Given the description of an element on the screen output the (x, y) to click on. 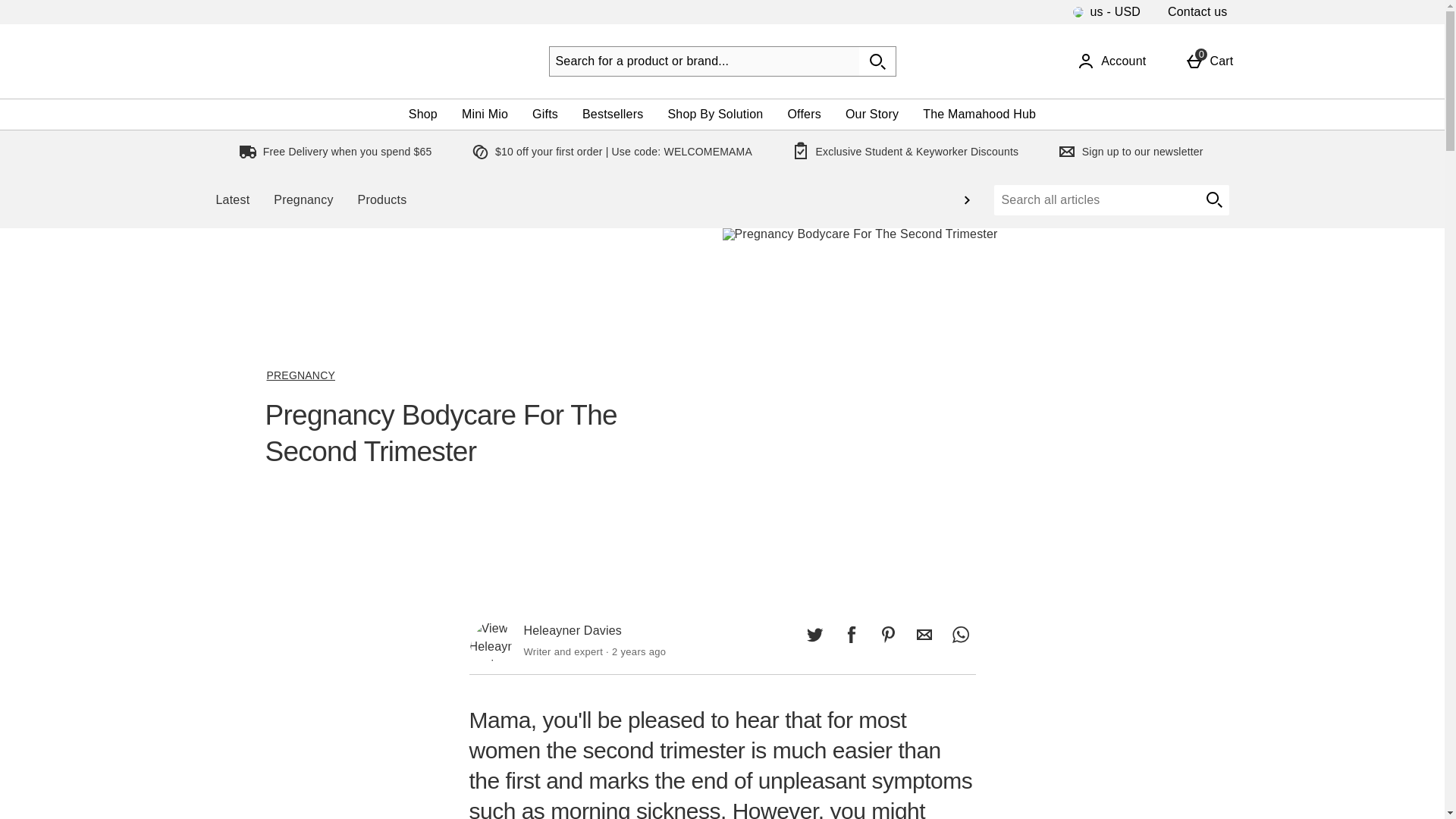
Search Articles (1095, 200)
Search for a product or brand... (703, 61)
Share this on Twitter (814, 634)
Gifts (1209, 61)
Shop (544, 114)
Mini Mio (422, 114)
Account (484, 114)
Contact us (1111, 61)
Share this by Email (1197, 12)
start article search (923, 634)
Share this on Facebook (1213, 200)
Share this on Pinterest (850, 634)
Skip to main content (887, 634)
us - USD (56, 9)
